Given the description of an element on the screen output the (x, y) to click on. 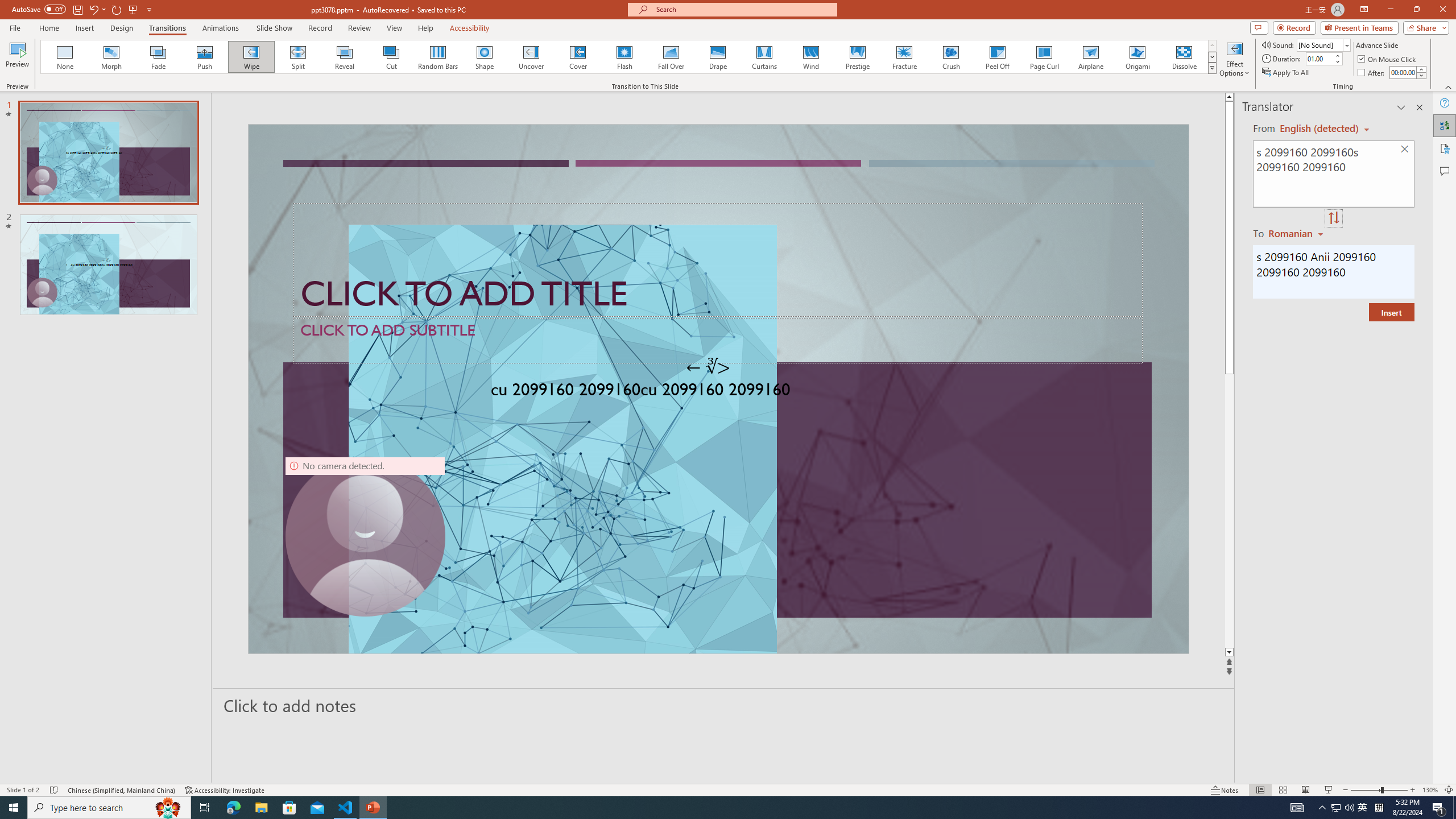
TextBox 61 (716, 391)
Effect Options (1234, 58)
Page Curl (1043, 56)
Wind (810, 56)
